Given the description of an element on the screen output the (x, y) to click on. 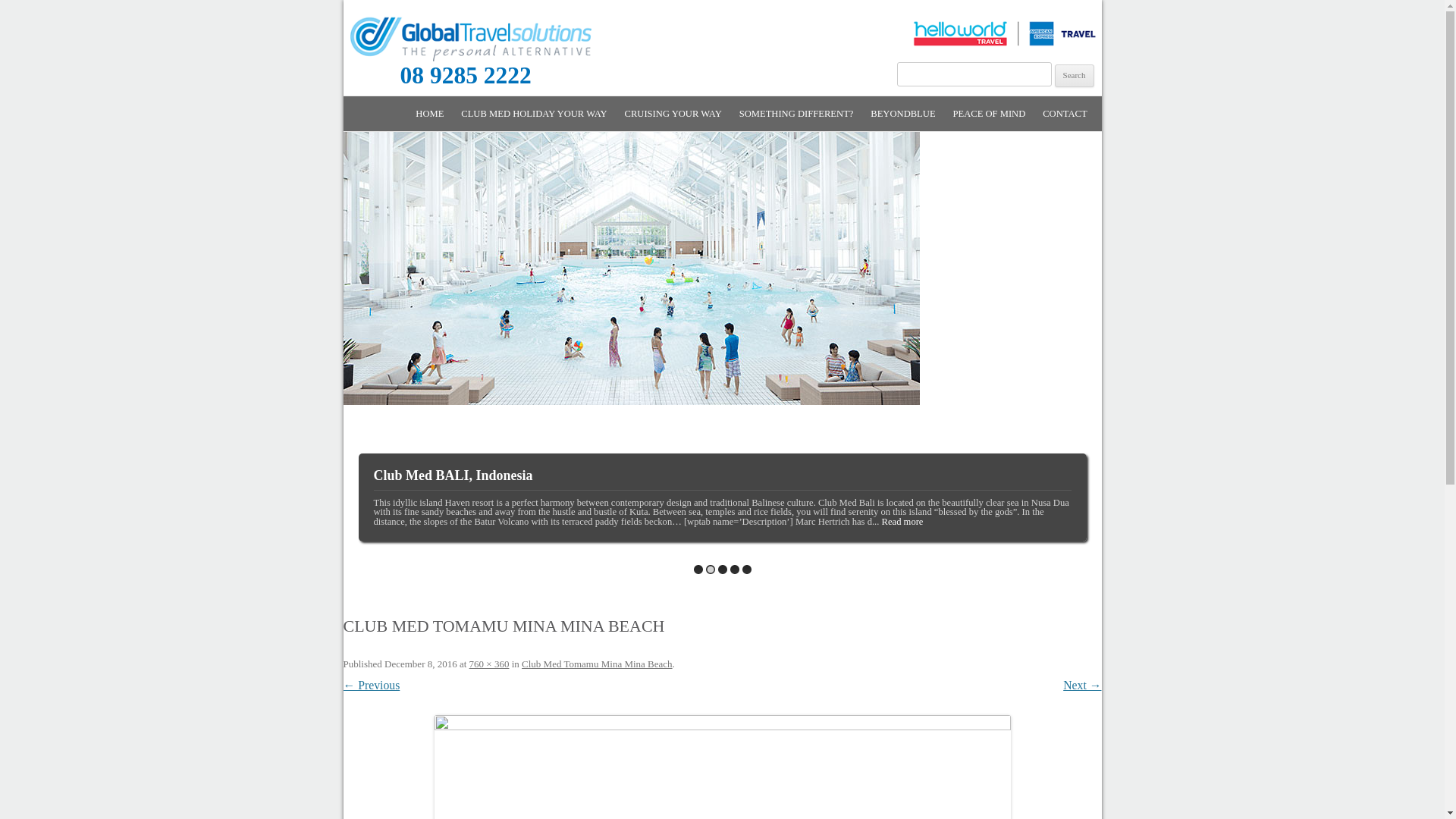
Club Med BALI, Indonesia Element type: hover (709, 569)
Club Med Tomamu Mina Mina Beach Element type: text (596, 663)
Club Med TOMAMU, Japan Element type: hover (697, 569)
Search Element type: text (1074, 75)
CLUB MED HOLIDAY YOUR WAY Element type: text (536, 146)
Silversea Cruises Element type: hover (721, 569)
Read more Element type: text (928, 521)
PEACE OF MIND Element type: text (988, 113)
SOMETHING DIFFERENT? Element type: text (796, 113)
Silversea Expeditions Element type: hover (733, 569)
CONTACT Element type: text (1064, 113)
08 9285 2222 Element type: text (436, 78)
BEYONDBLUE Element type: text (902, 113)
HOME Element type: text (429, 113)
CRUISING YOUR WAY Element type: text (672, 113)
Club Med SAHORO, Japan Element type: hover (745, 569)
Read more Element type: text (902, 521)
CRUISING YOUR WAY Element type: text (700, 146)
CLUB MED HOLIDAY YOUR WAY Element type: text (533, 113)
